Given the description of an element on the screen output the (x, y) to click on. 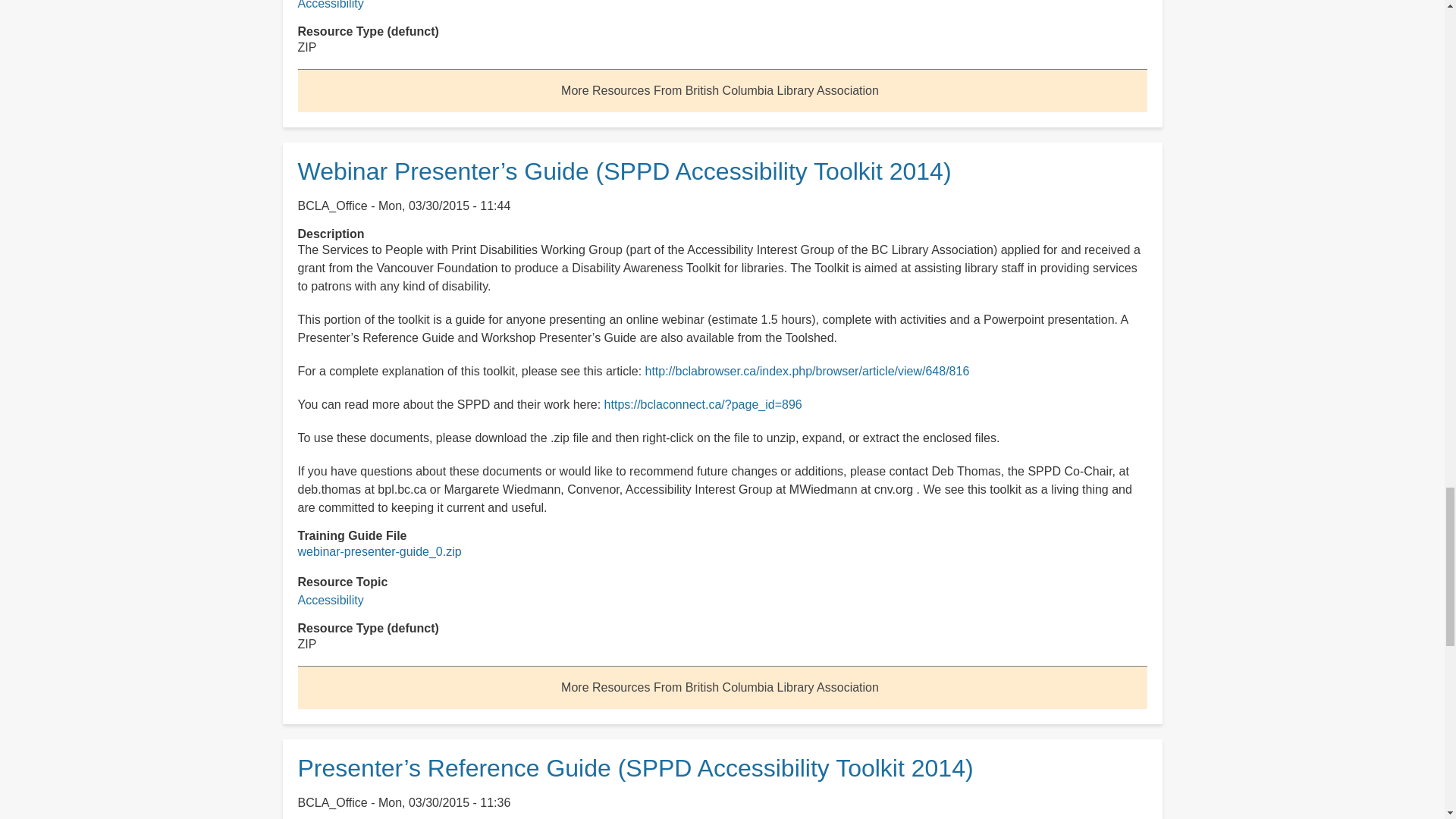
Monday, March 30, 2015 - 11:36 (444, 802)
Monday, March 30, 2015 - 11:44 (444, 205)
Accessibility (329, 4)
British Columbia Library Association (719, 90)
